Given the description of an element on the screen output the (x, y) to click on. 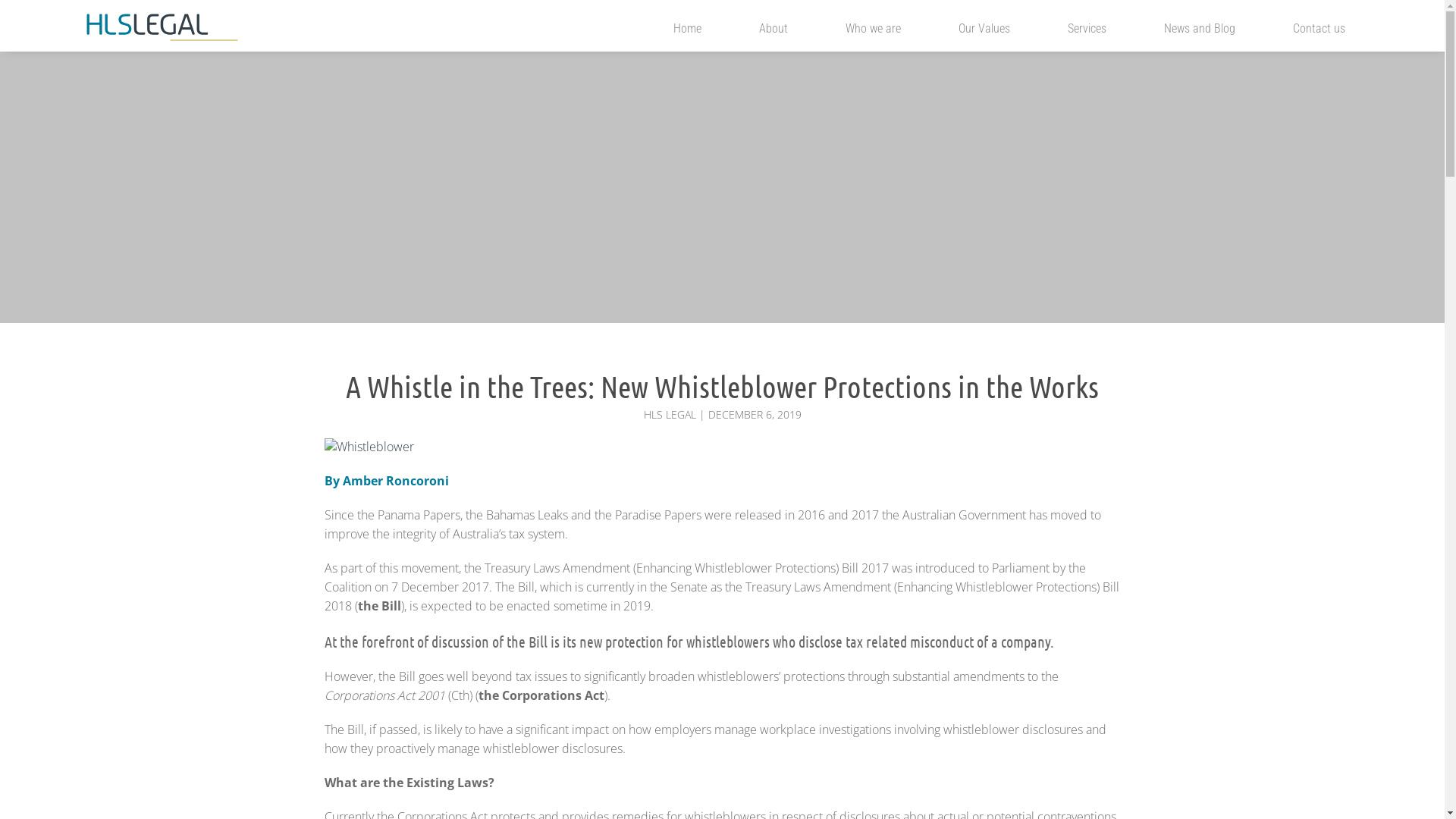
Home Element type: text (687, 33)
About Element type: text (773, 33)
Our Values Element type: text (983, 33)
By Amber Roncoroni Element type: text (386, 480)
News and Blog Element type: text (1199, 33)
Who we are Element type: text (872, 33)
Services Element type: text (1086, 33)
Contact us Element type: text (1319, 33)
